Given the description of an element on the screen output the (x, y) to click on. 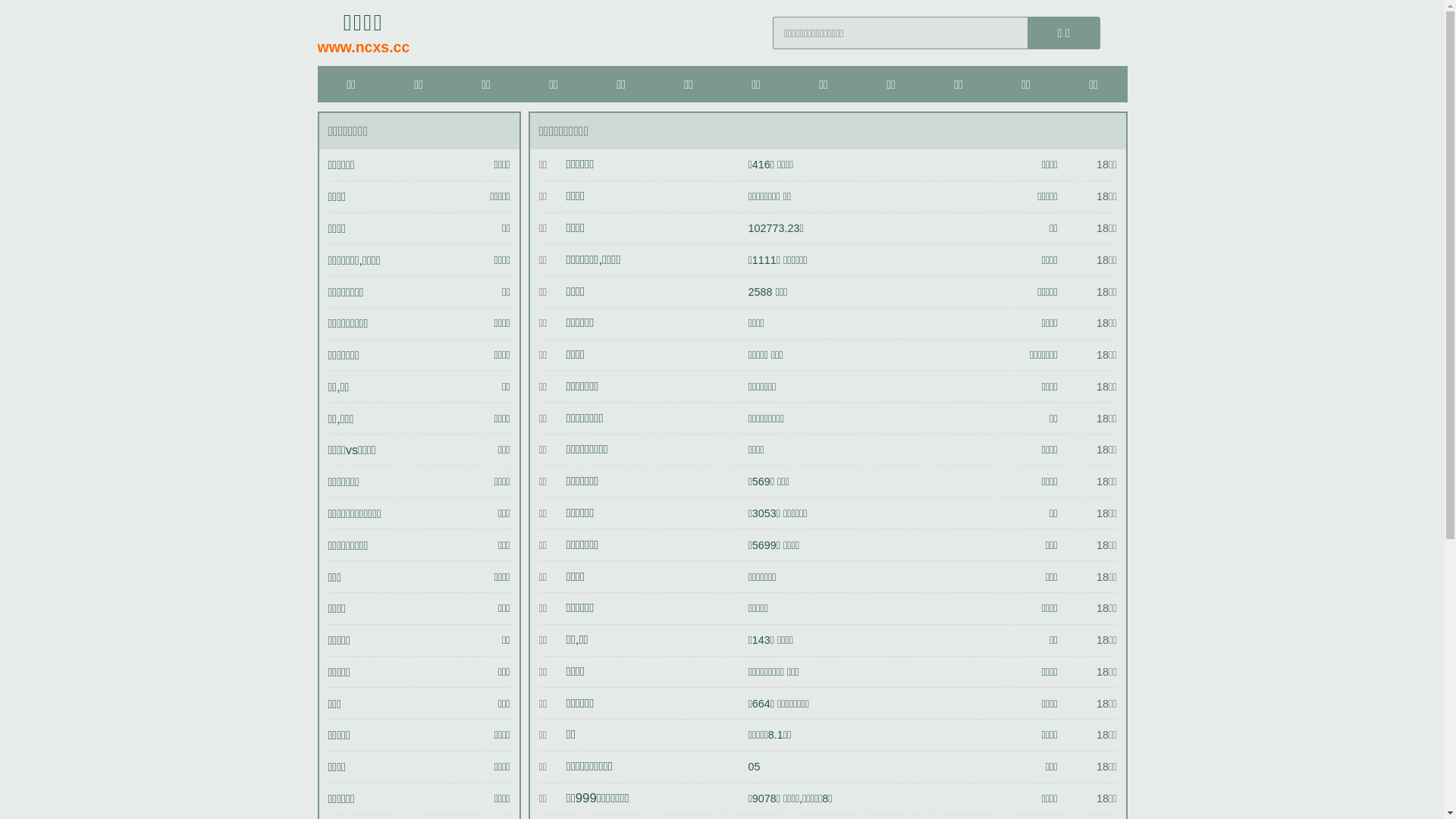
05 Element type: text (753, 766)
